Given the description of an element on the screen output the (x, y) to click on. 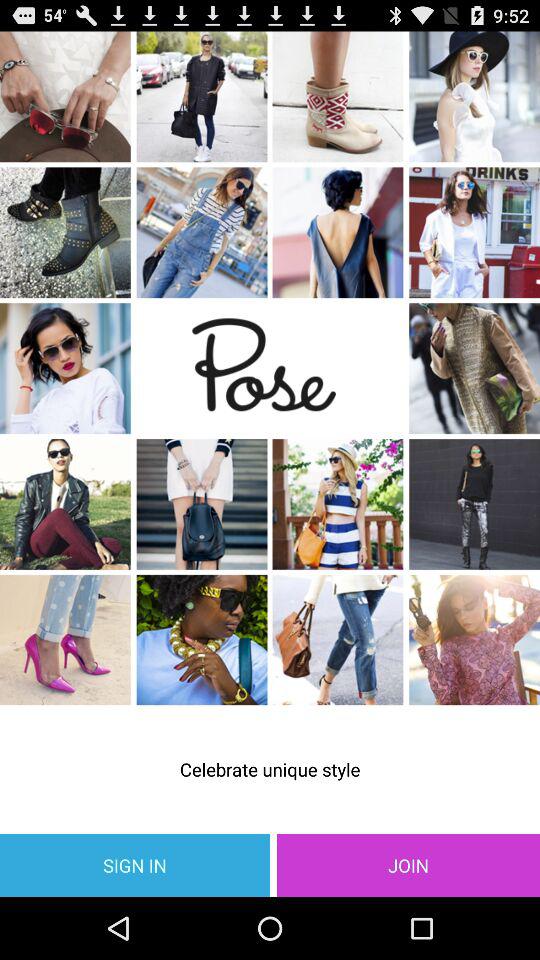
click the icon to the right of sign in (408, 864)
